Given the description of an element on the screen output the (x, y) to click on. 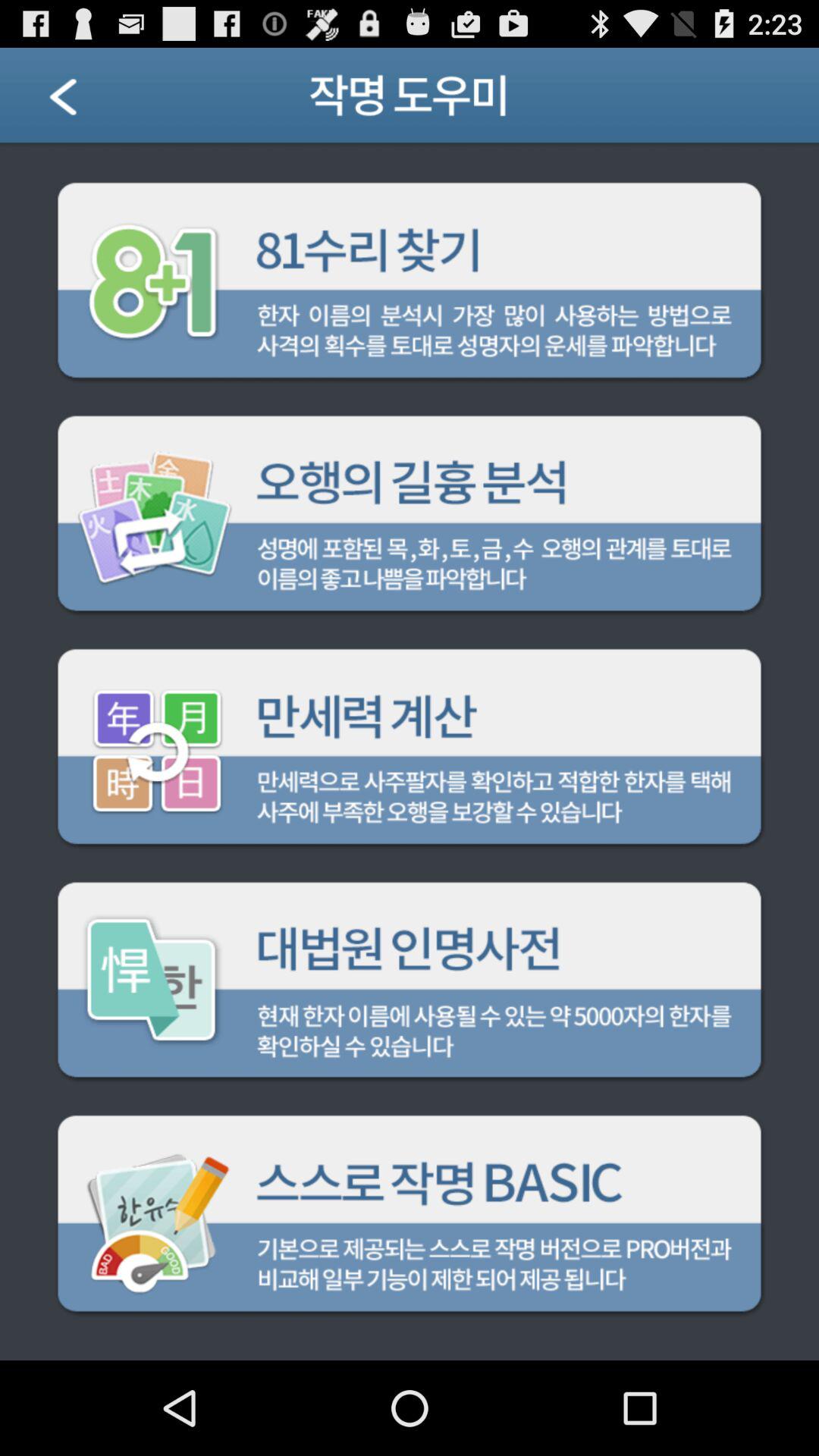
go to previous page (81, 101)
